Given the description of an element on the screen output the (x, y) to click on. 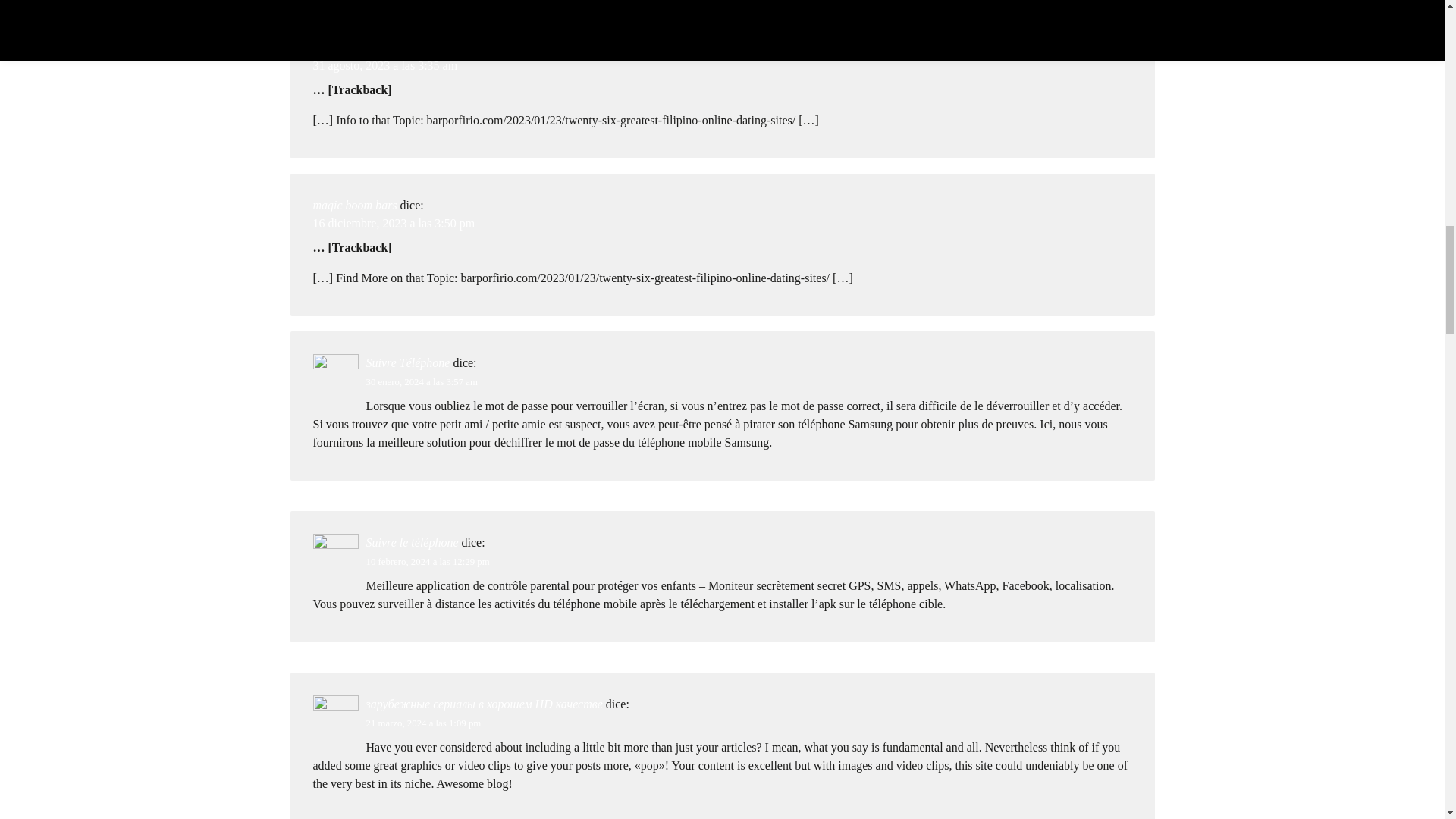
10 febrero, 2024 a las 12:29 pm (427, 561)
magic boom bars (354, 205)
30 enero, 2024 a las 3:57 am (421, 381)
21 marzo, 2024 a las 1:09 pm (422, 723)
Betkick (330, 47)
31 agosto, 2023 a las 3:35 am (385, 65)
16 diciembre, 2023 a las 3:50 pm (393, 223)
